Given the description of an element on the screen output the (x, y) to click on. 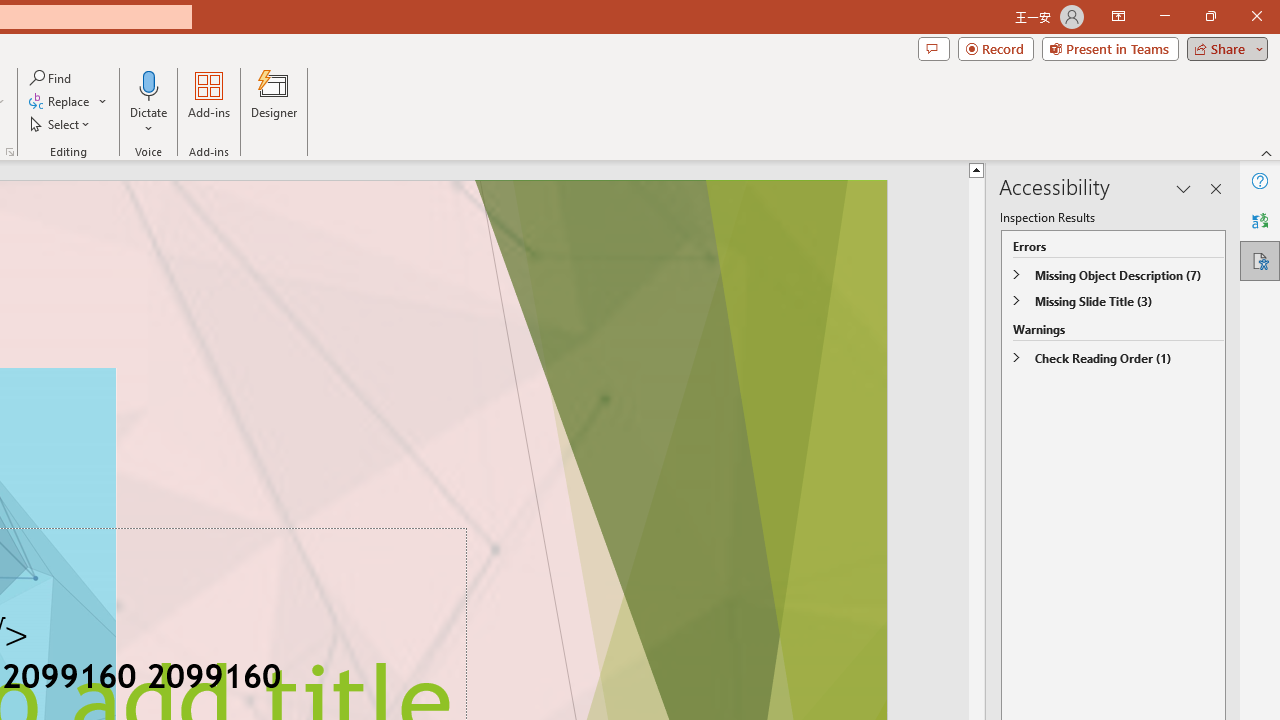
Select (61, 124)
Find... (51, 78)
